Given the description of an element on the screen output the (x, y) to click on. 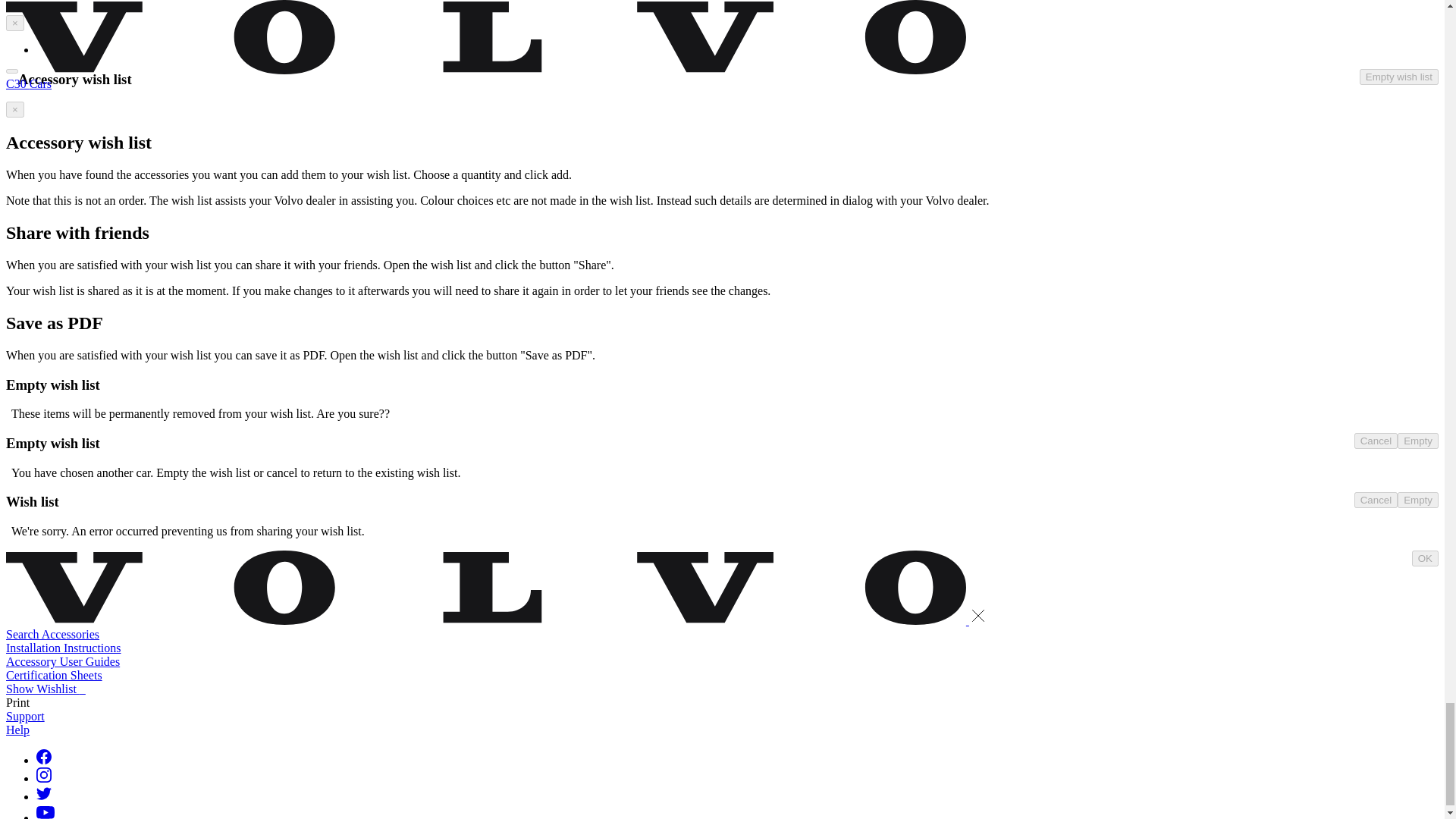
Print (17, 702)
Search Accessories (52, 634)
Save as PDF (11, 70)
Show Wishlist (45, 688)
